Given the description of an element on the screen output the (x, y) to click on. 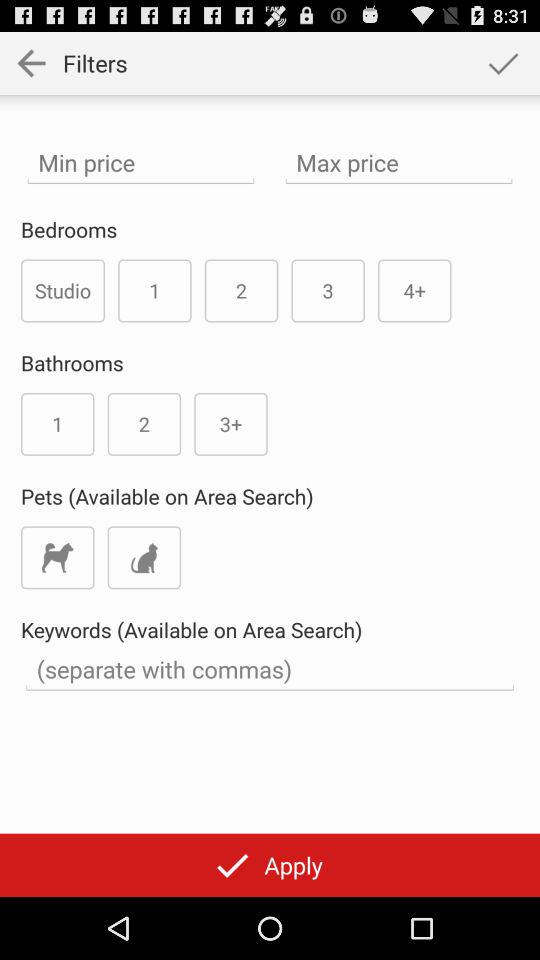
choose the app below pets available on (57, 557)
